Given the description of an element on the screen output the (x, y) to click on. 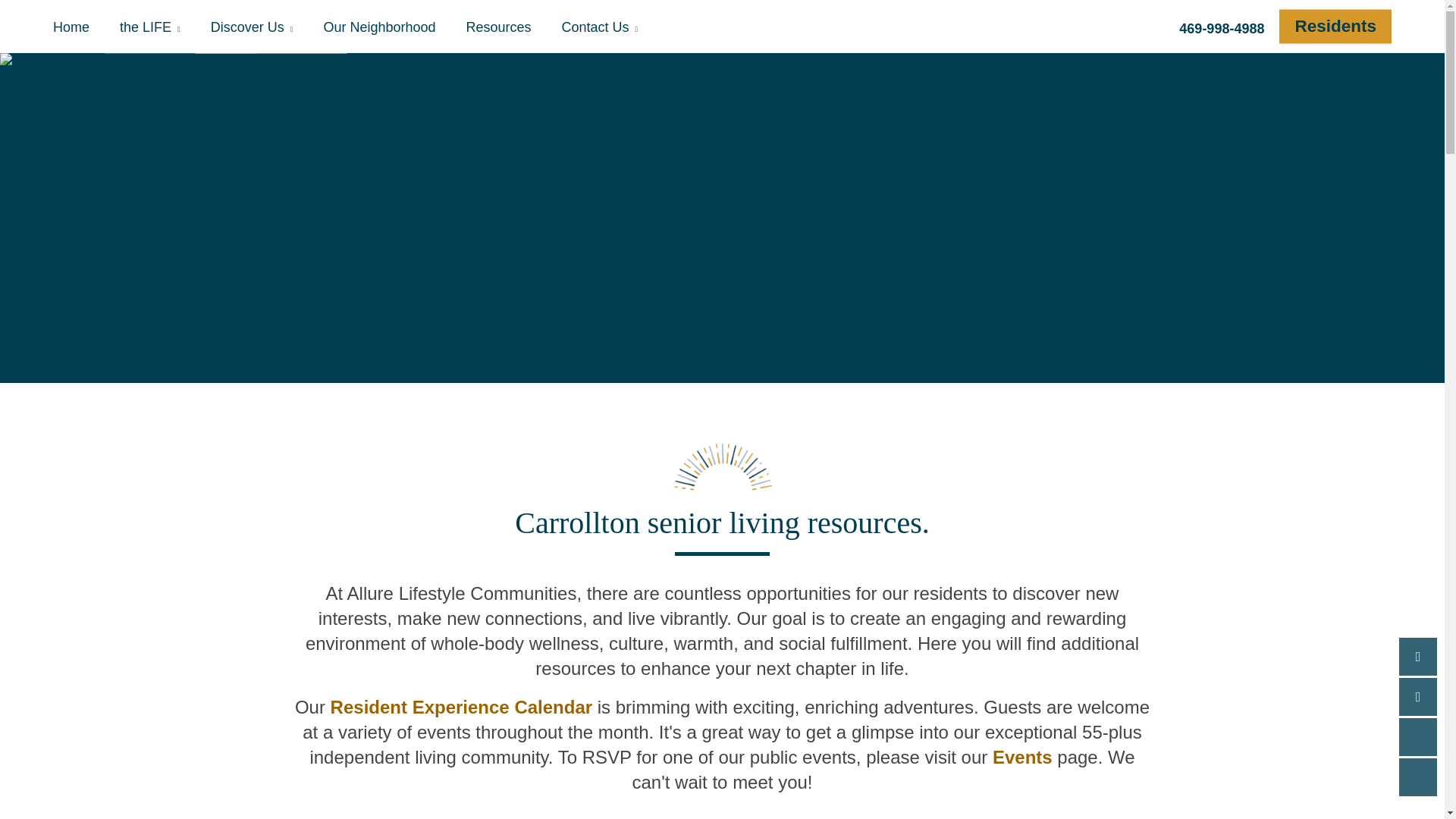
Property Phone Number (1221, 26)
469-998-4988 (1221, 26)
Contact Us (600, 26)
Events (180, 28)
Resident Experience Calendar (461, 706)
Events (1022, 756)
Scroll Down (1418, 777)
Our Neighborhood (378, 26)
the LIFE (149, 26)
Phone Number (1418, 656)
Photo Gallery (271, 28)
Home (78, 26)
Residents (1335, 26)
Email (1418, 696)
Scroll Up (1418, 736)
